Given the description of an element on the screen output the (x, y) to click on. 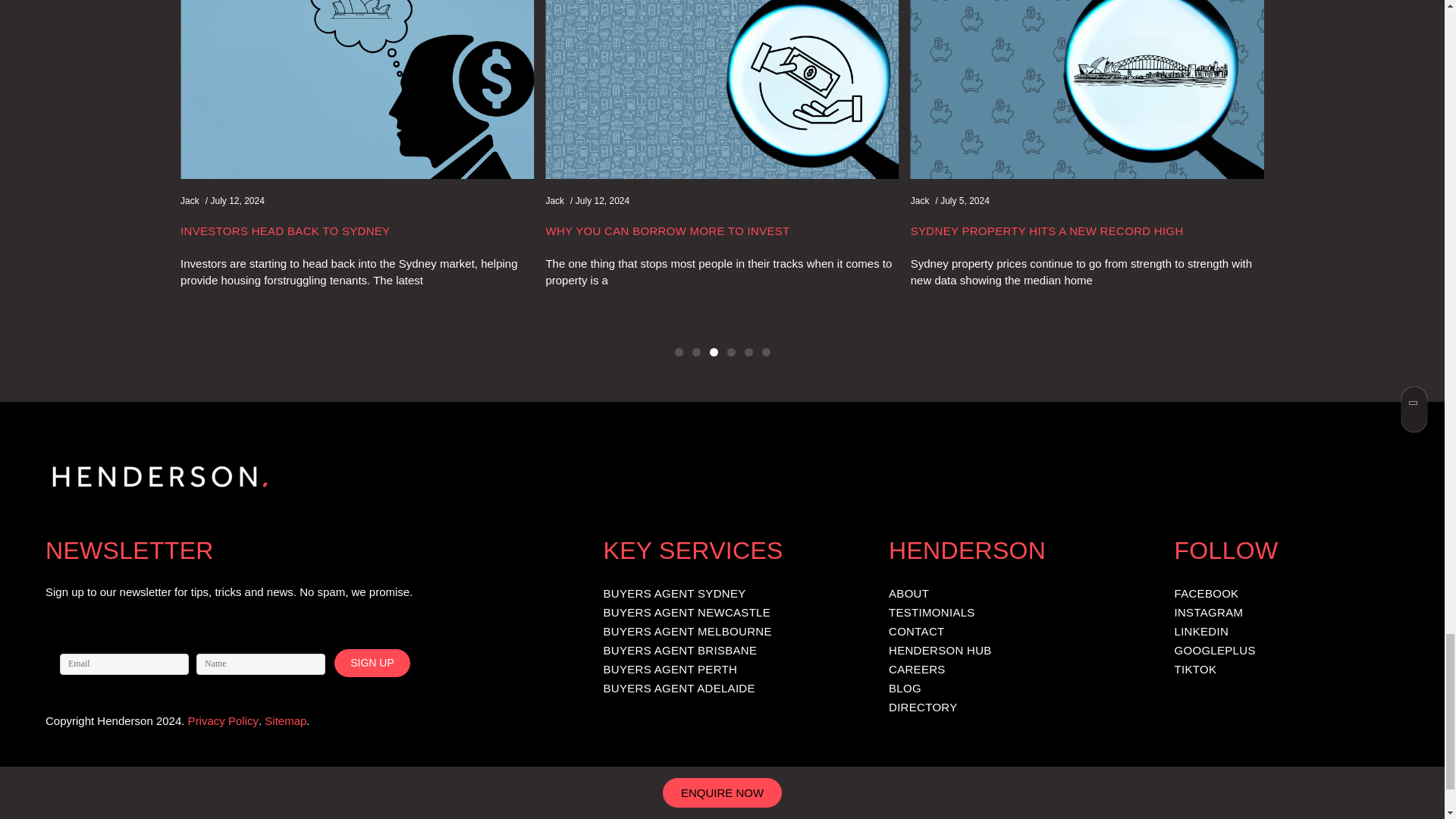
SIGN UP (372, 663)
